Given the description of an element on the screen output the (x, y) to click on. 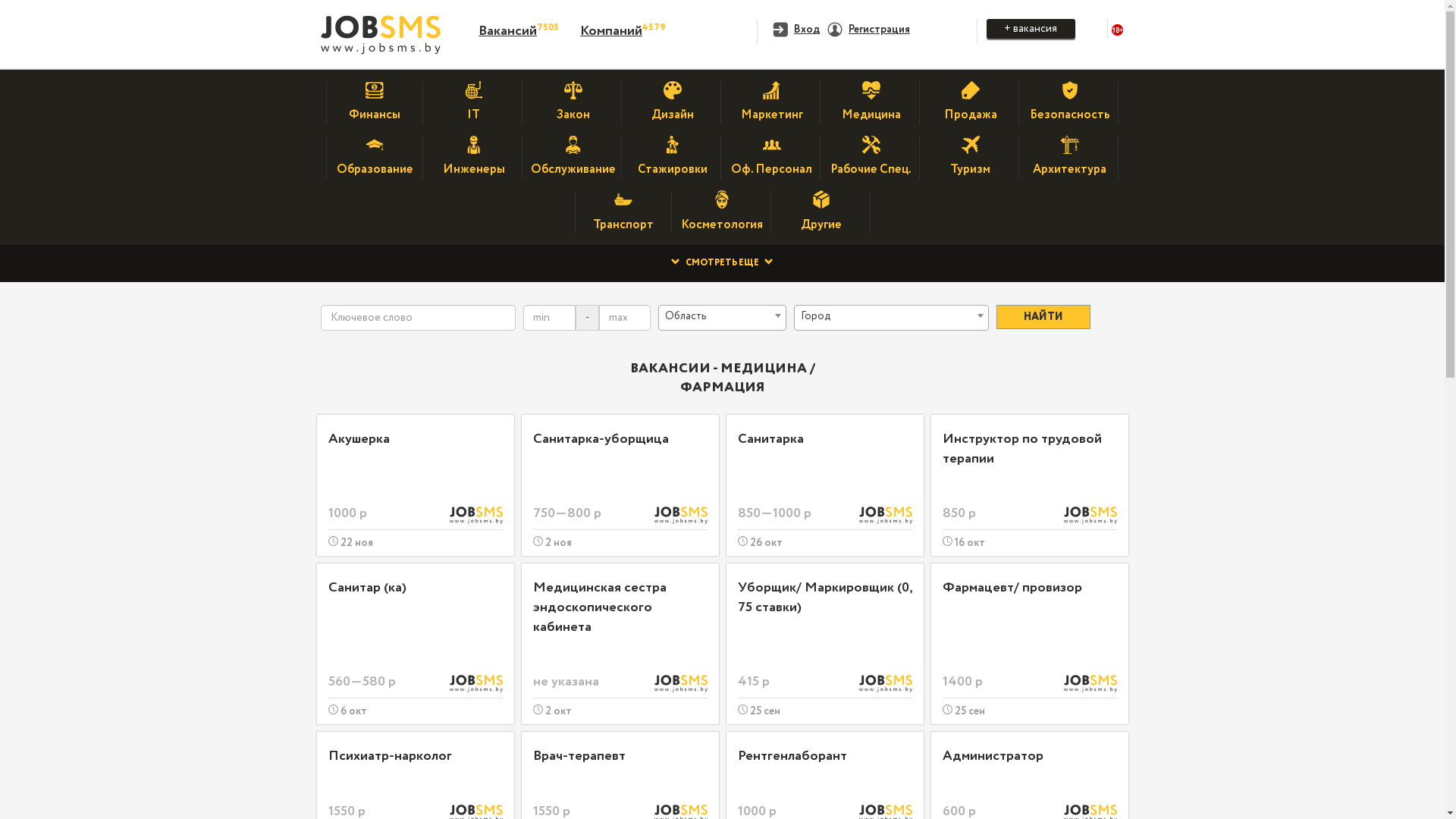
IT Element type: text (473, 107)
